Given the description of an element on the screen output the (x, y) to click on. 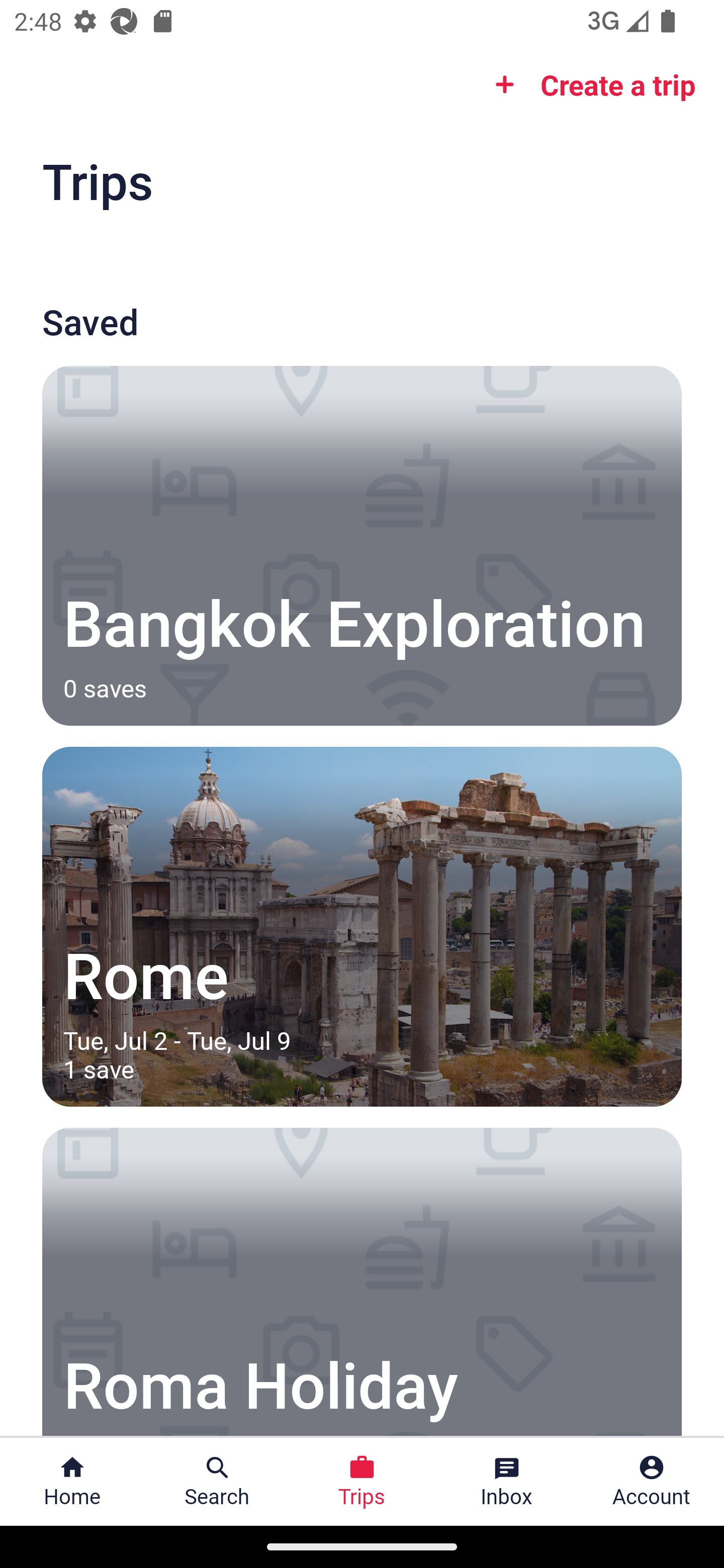
Create a trip Create a trip Button (589, 84)
Home Home Button (72, 1481)
Search Search Button (216, 1481)
Inbox Inbox Button (506, 1481)
Account Profile. Button (651, 1481)
